Given the description of an element on the screen output the (x, y) to click on. 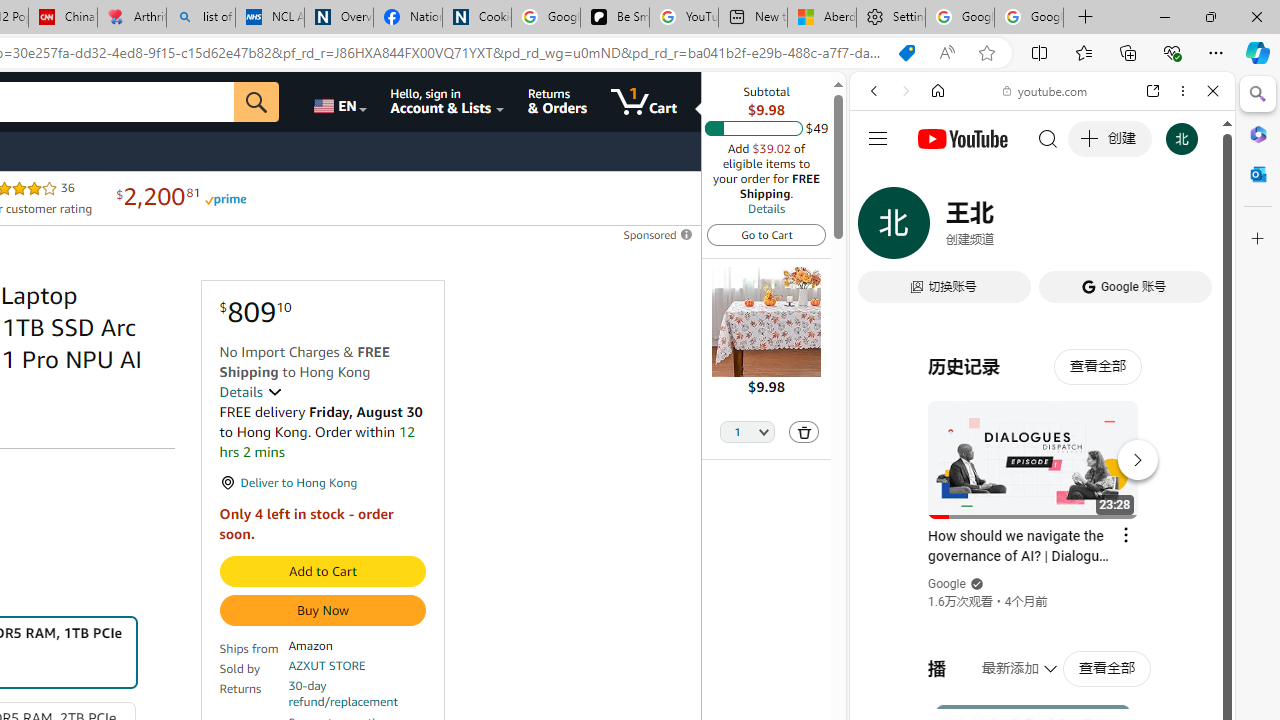
30-day refund/replacement (357, 693)
Delete (804, 431)
